Given the description of an element on the screen output the (x, y) to click on. 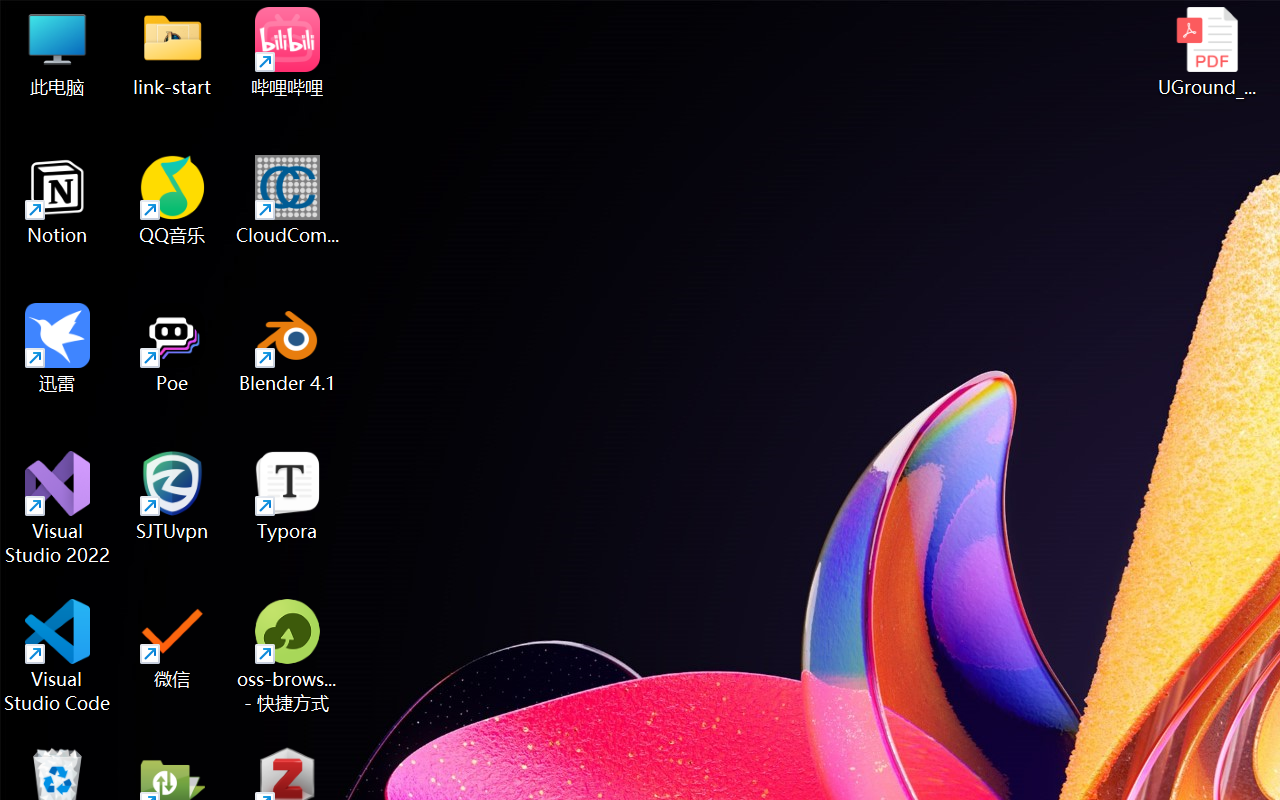
Typora (287, 496)
UGround_paper.pdf (1206, 52)
Visual Studio Code (57, 656)
Visual Studio 2022 (57, 508)
Blender 4.1 (287, 348)
CloudCompare (287, 200)
